Given the description of an element on the screen output the (x, y) to click on. 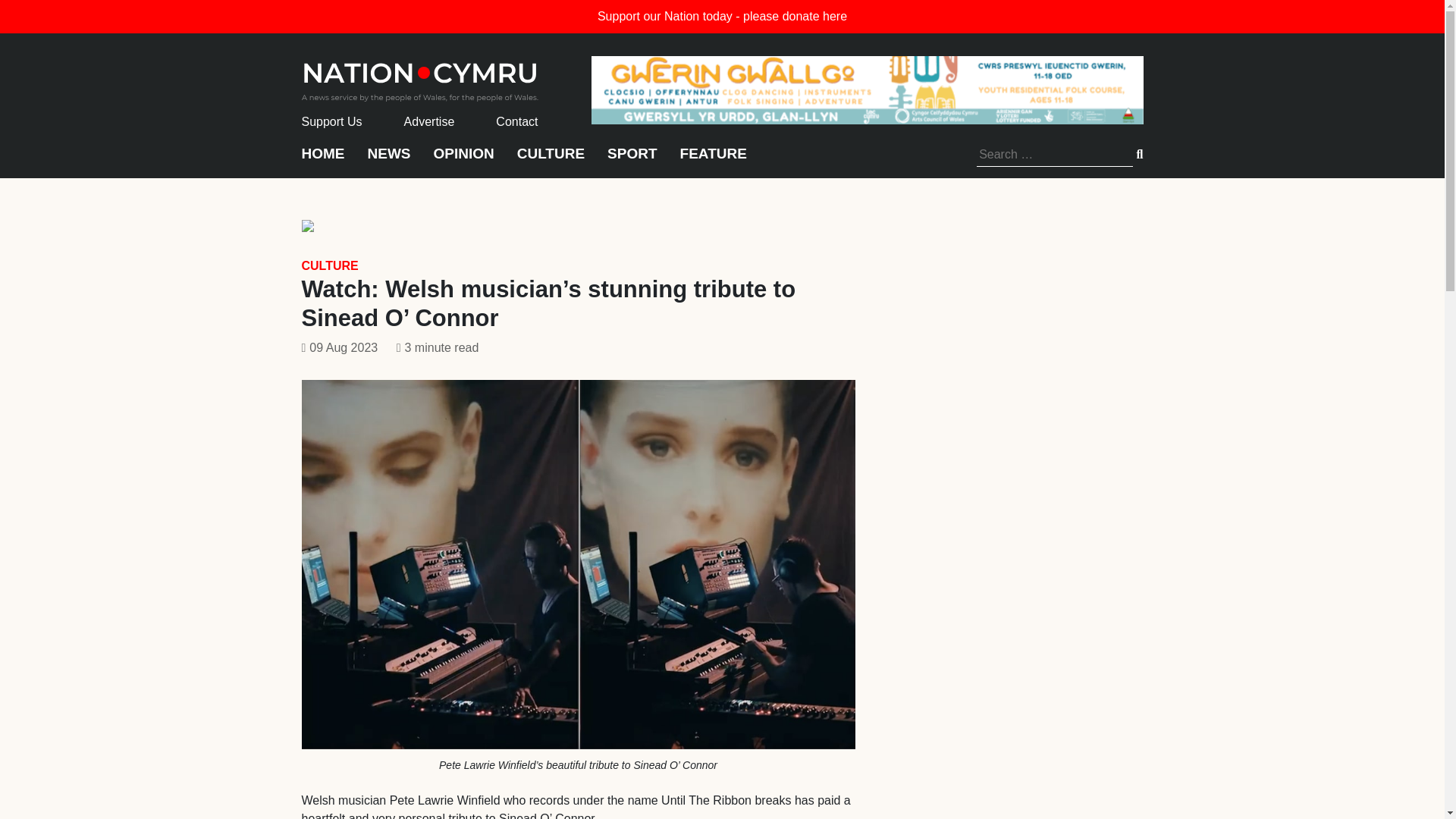
Advertise (429, 121)
FEATURE (712, 160)
Support Us (331, 121)
Contact (516, 121)
CULTURE (329, 265)
SPORT (631, 160)
home (419, 77)
NEWS (388, 160)
HOME (323, 160)
CULTURE (550, 160)
